Given the description of an element on the screen output the (x, y) to click on. 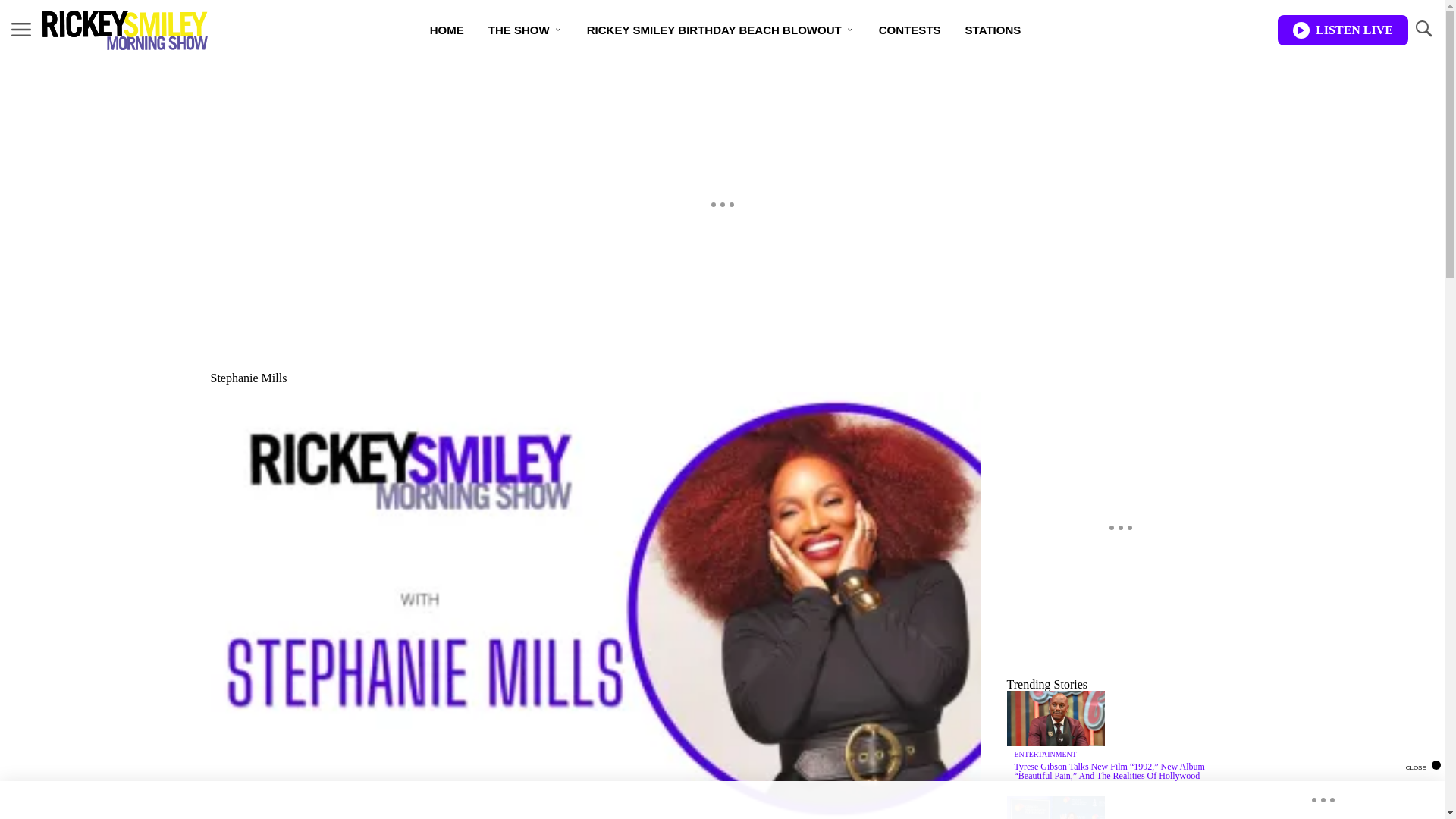
CONTESTS (909, 30)
STATIONS (993, 30)
TOGGLE SEARCH (1422, 28)
HOME (446, 30)
ENTERTAINMENT (1045, 754)
RICKEY SMILEY BIRTHDAY BEACH BLOWOUT (720, 30)
THE SHOW (525, 30)
MENU (20, 30)
LISTEN LIVE (1342, 30)
TOGGLE SEARCH (1422, 30)
